Given the description of an element on the screen output the (x, y) to click on. 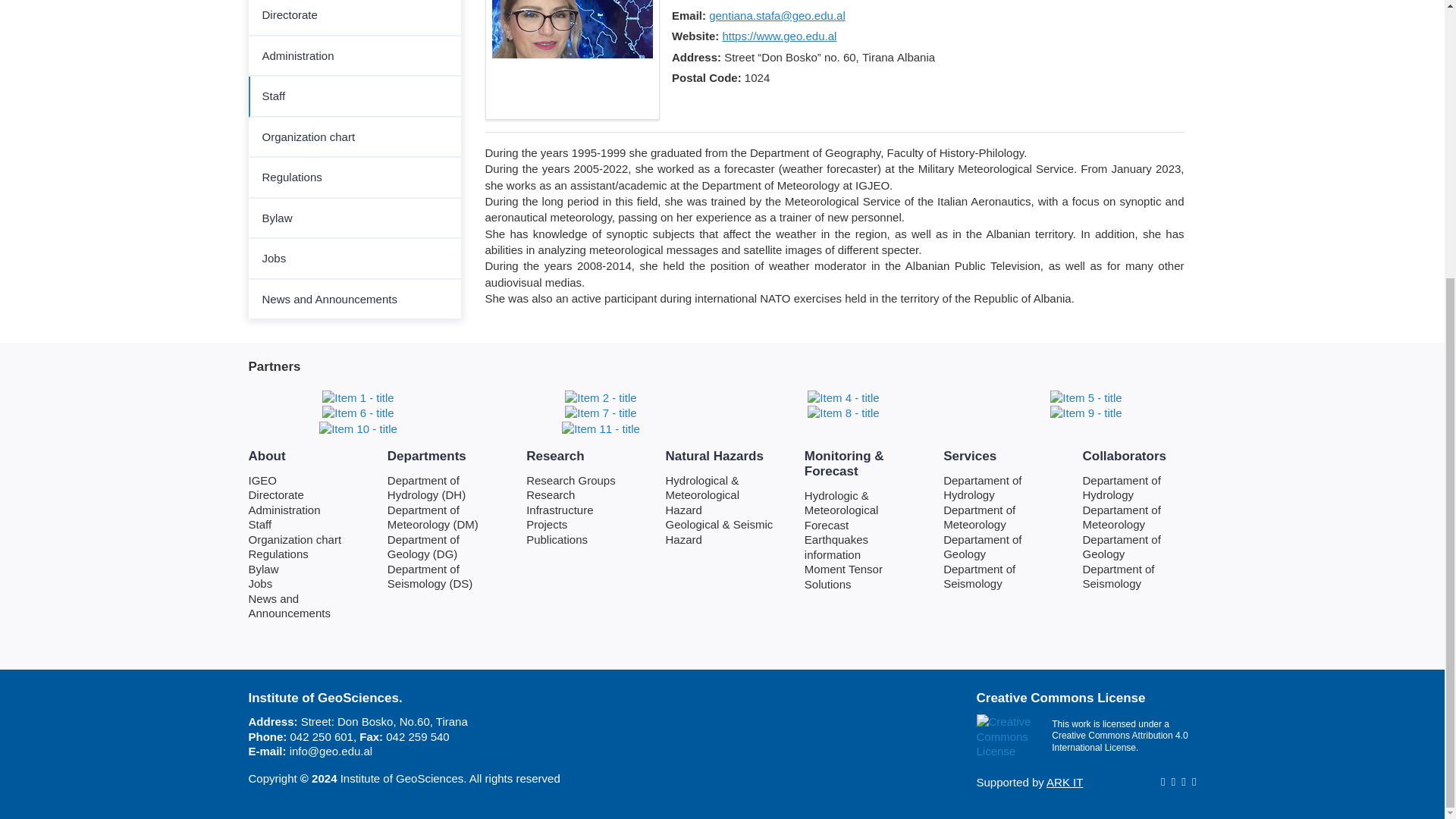
Item 5 - title (1085, 395)
Item 2 - title (600, 395)
Item 4 - title (843, 395)
Item 1 - title (357, 395)
